Given the description of an element on the screen output the (x, y) to click on. 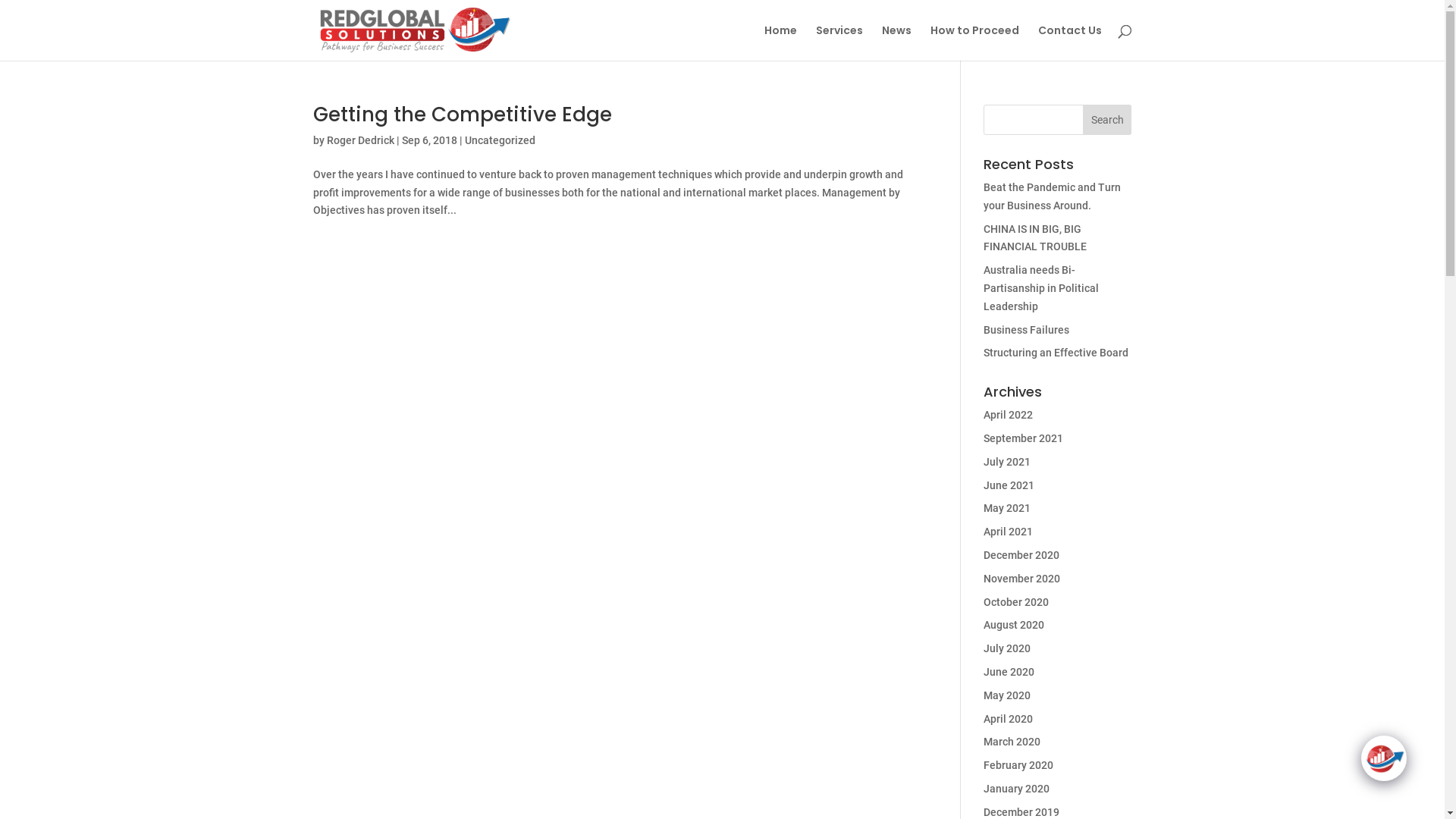
November 2020 Element type: text (1021, 578)
June 2021 Element type: text (1008, 485)
May 2021 Element type: text (1006, 508)
Services Element type: text (838, 42)
News Element type: text (895, 42)
January 2020 Element type: text (1016, 788)
July 2021 Element type: text (1006, 461)
December 2019 Element type: text (1021, 812)
Search Element type: text (1107, 119)
Business Failures Element type: text (1026, 329)
Australia needs Bi-Partisanship in Political Leadership Element type: text (1040, 287)
Contact Us Element type: text (1069, 42)
August 2020 Element type: text (1013, 624)
CHINA IS IN BIG, BIG FINANCIAL TROUBLE Element type: text (1034, 237)
Uncategorized Element type: text (499, 140)
December 2020 Element type: text (1021, 555)
April 2022 Element type: text (1007, 414)
Getting the Competitive Edge Element type: text (461, 114)
April 2020 Element type: text (1007, 718)
Beat the Pandemic and Turn your Business Around. Element type: text (1051, 196)
July 2020 Element type: text (1006, 648)
Roger Dedrick Element type: text (359, 140)
June 2020 Element type: text (1008, 671)
May 2020 Element type: text (1006, 695)
October 2020 Element type: text (1015, 602)
April 2021 Element type: text (1007, 531)
March 2020 Element type: text (1011, 741)
Home Element type: text (780, 42)
February 2020 Element type: text (1018, 765)
Structuring an Effective Board Element type: text (1055, 352)
How to Proceed Element type: text (973, 42)
September 2021 Element type: text (1023, 438)
